Given the description of an element on the screen output the (x, y) to click on. 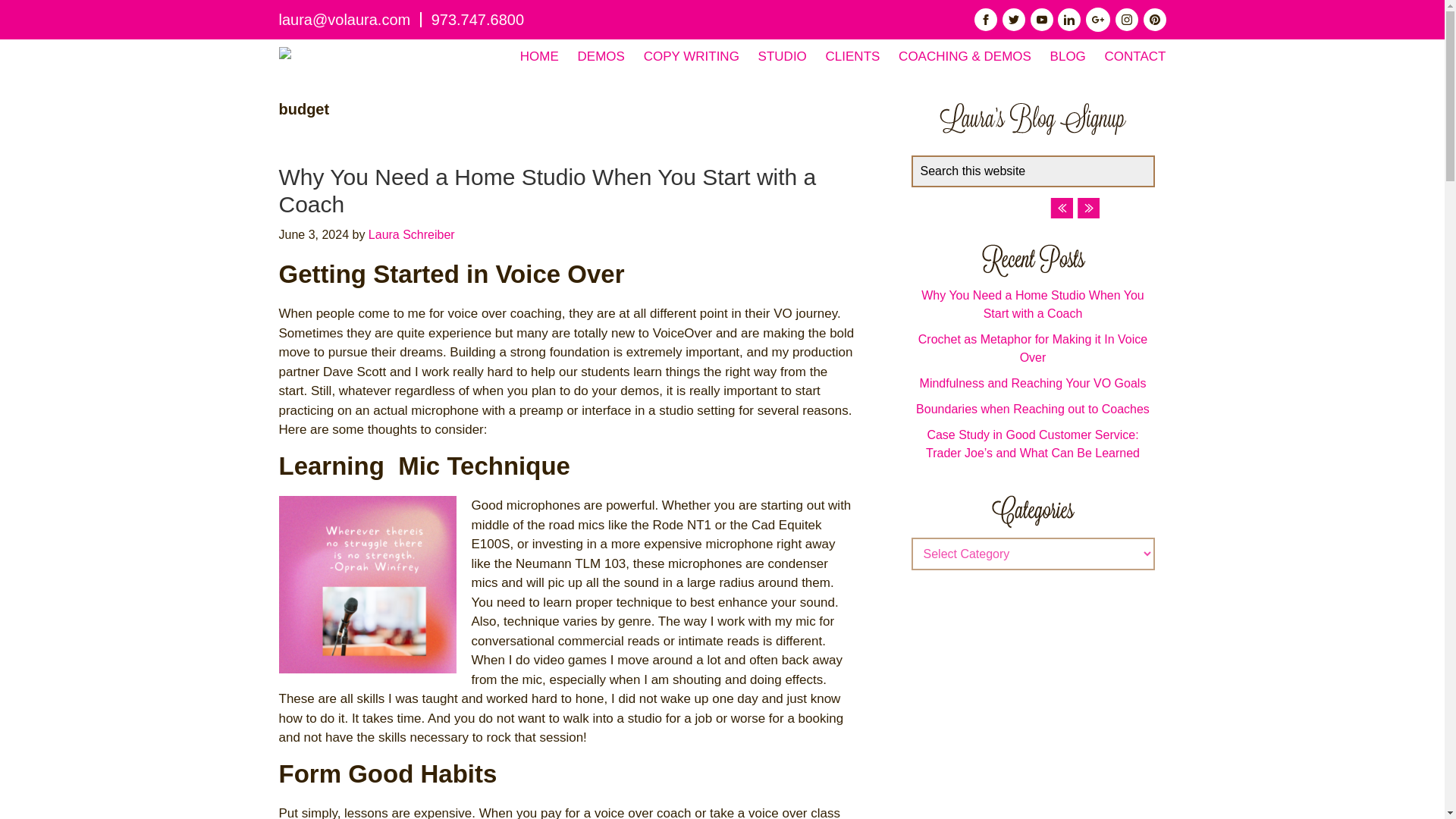
twitter (1014, 19)
Laura Schreiber Voiceovers Recent Post (1031, 260)
973.747.6800 (477, 19)
HOME (539, 56)
CLIENTS (852, 56)
facebook (985, 19)
COPY WRITING (691, 56)
Youtube (1041, 19)
Search (1160, 163)
Instagram (1126, 19)
